Given the description of an element on the screen output the (x, y) to click on. 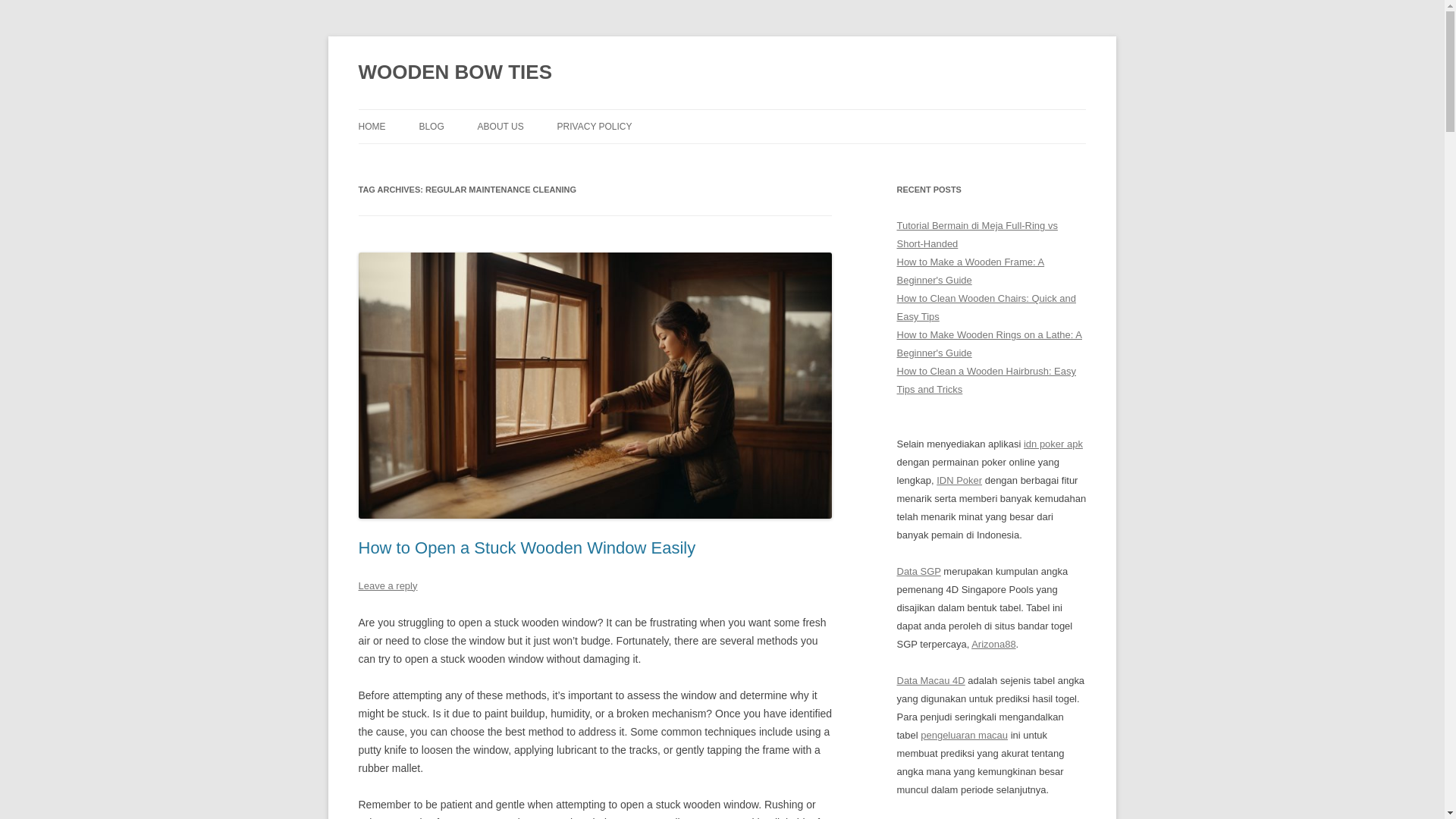
WOODEN BOW TIES (454, 72)
Tutorial Bermain di Meja Full-Ring vs Short-Handed (976, 234)
How to Open a Stuck Wooden Window Easily (526, 547)
PRIVACY POLICY (594, 126)
IDN Poker (958, 480)
Data Macau 4D (929, 680)
How to Clean a Wooden Hairbrush: Easy Tips and Tricks (985, 379)
Arizona88 (992, 644)
How to Make Wooden Rings on a Lathe: A Beginner's Guide (988, 343)
idn poker apk (1053, 443)
pengeluaran macau (963, 735)
Data SGP (918, 571)
ABOUT US (500, 126)
How to Make a Wooden Frame: A Beginner's Guide (969, 270)
